Given the description of an element on the screen output the (x, y) to click on. 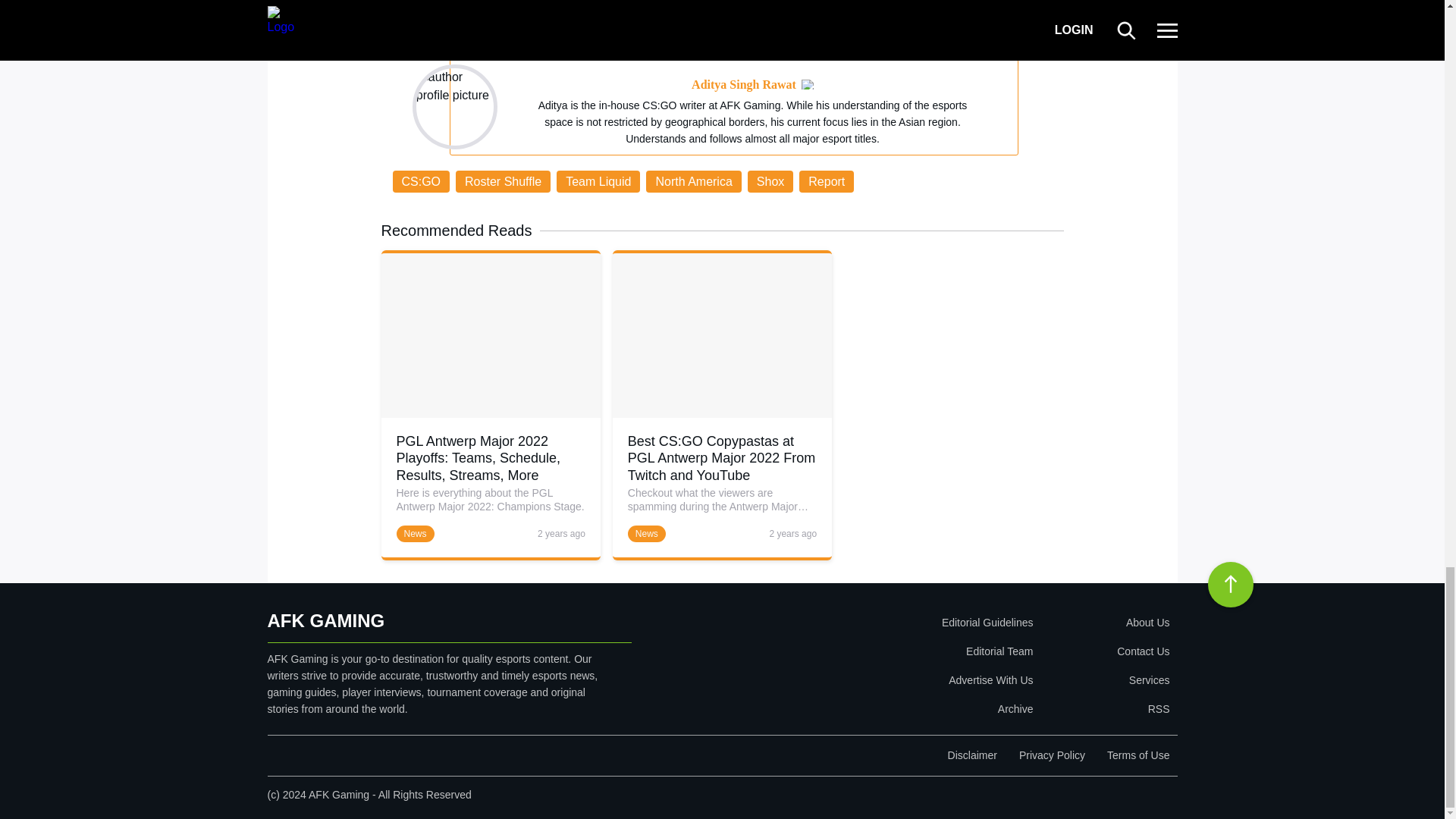
Team Liquid (598, 181)
Archive (899, 708)
Contact Us (1105, 651)
Shox (770, 181)
North America (693, 181)
Shox to Reportedly Part Ways With Team Liquid's CS:GO Roster (406, 26)
Editorial Team (899, 651)
Disclaimer (972, 755)
Roster Shuffle (502, 181)
Report (826, 181)
